Given the description of an element on the screen output the (x, y) to click on. 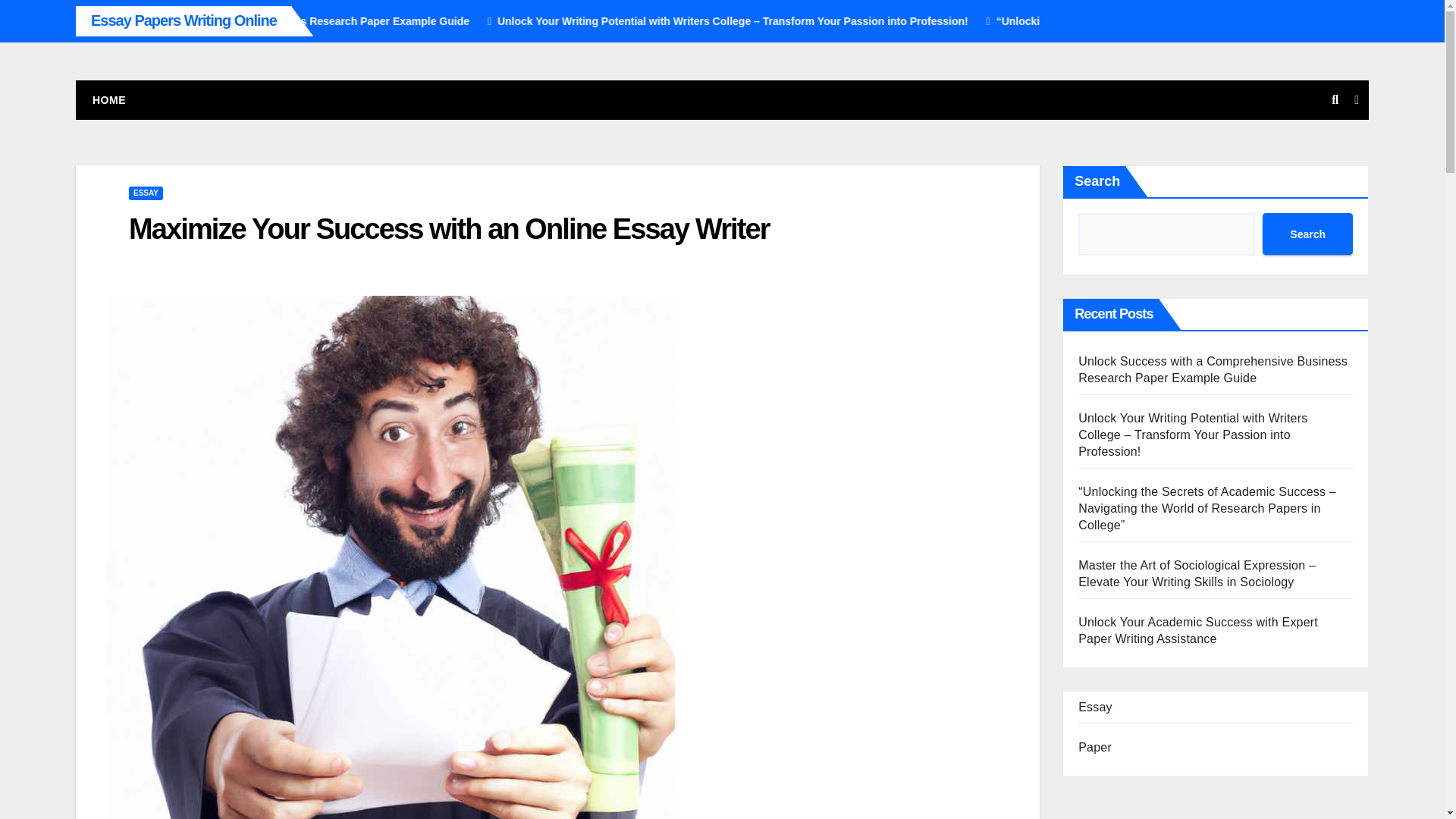
ESSAY (146, 192)
HOME (108, 99)
Maximize Your Success with an Online Essay Writer (449, 228)
Home (108, 99)
Search (1307, 233)
